Given the description of an element on the screen output the (x, y) to click on. 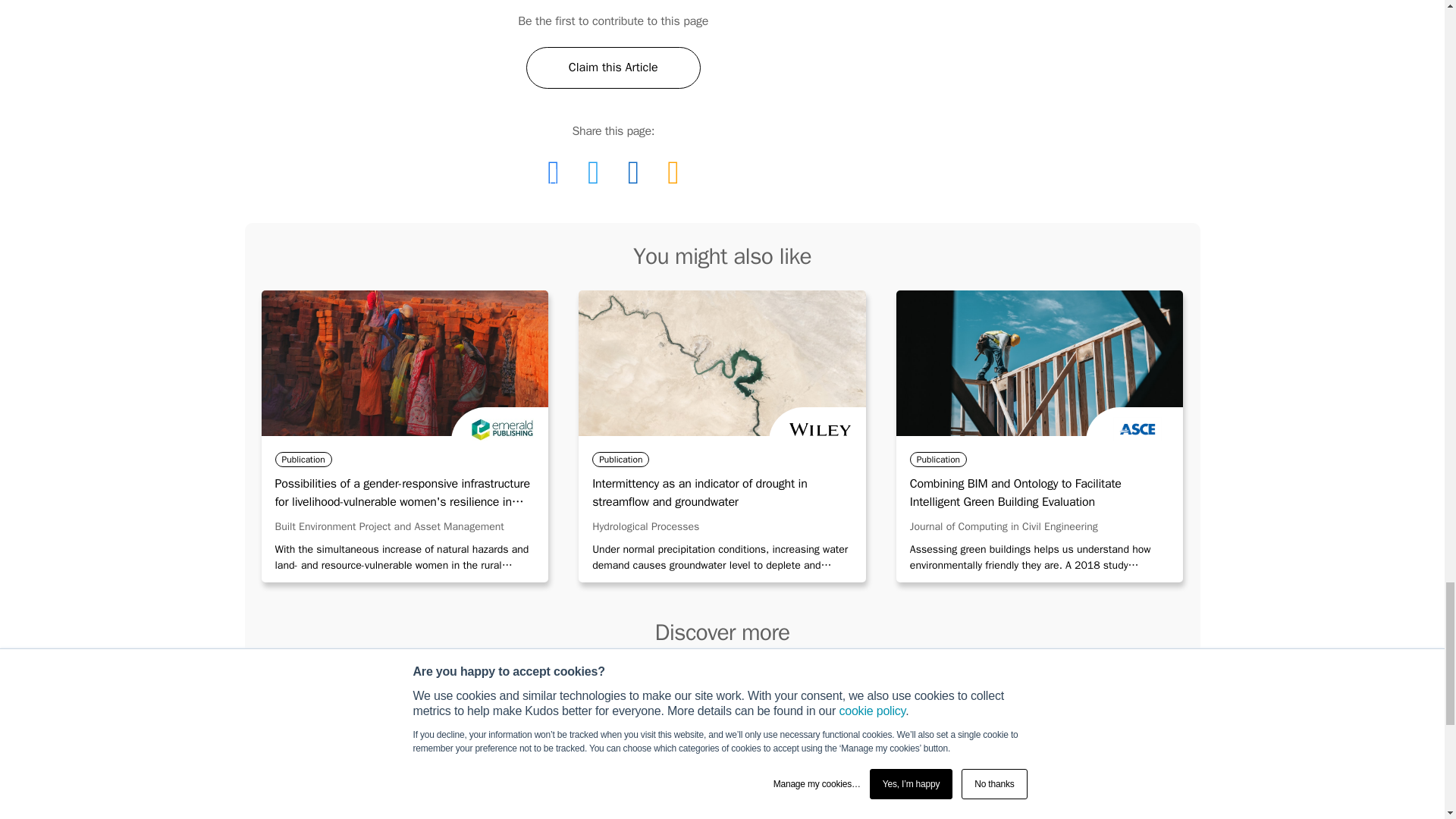
Journal of Computing in Civil Engineering (1003, 526)
Physical Sciences (840, 723)
Technology and Engineering (1078, 723)
Hydrological Processes (645, 526)
Share this page via Facebook (553, 171)
Share this page via Twitter (593, 171)
Share this page via email (672, 171)
Share this page via LinkedIn (633, 171)
Social Sciences (840, 814)
